Given the description of an element on the screen output the (x, y) to click on. 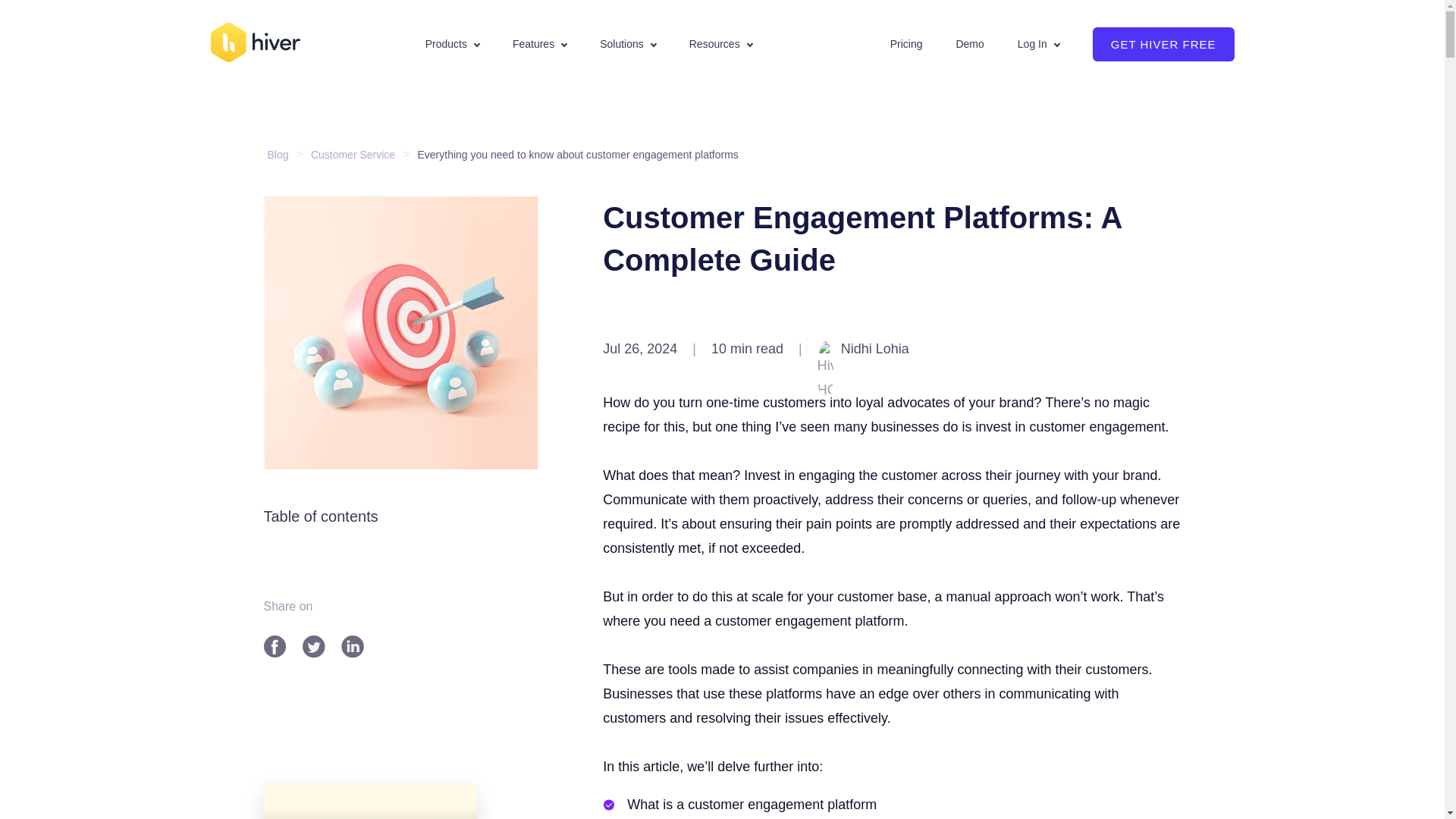
Features (539, 43)
Log In (1038, 43)
product (452, 43)
Resources (720, 43)
Pricing (906, 43)
solutions (627, 43)
